Given the description of an element on the screen output the (x, y) to click on. 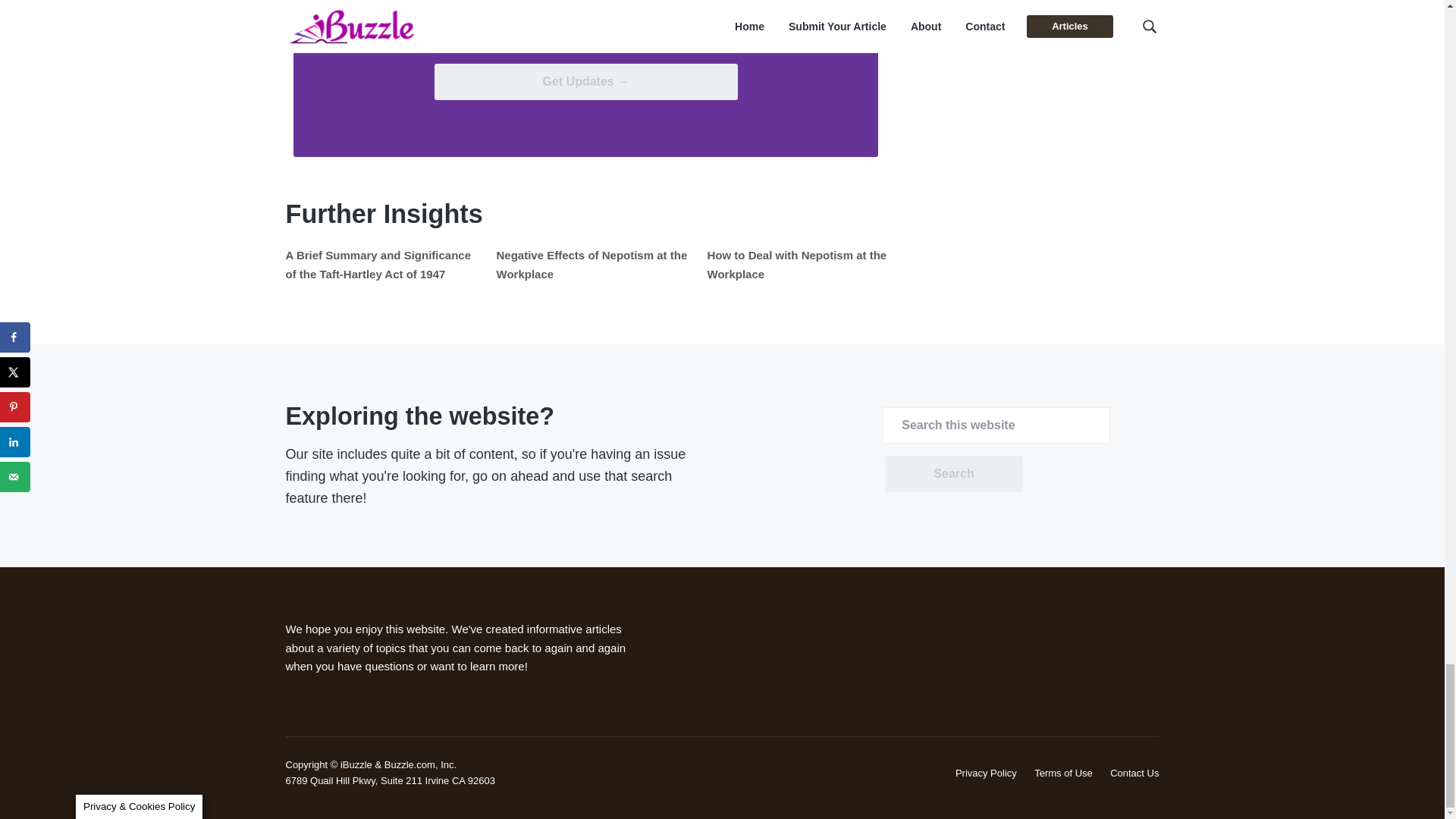
Permanent Link to How to Deal with Nepotism at the Workplace (796, 264)
Privacy Policy (985, 772)
Contact Us (1133, 772)
Negative Effects of Nepotism at the Workplace (591, 264)
Search (953, 473)
How to Deal with Nepotism at the Workplace (796, 264)
Search (953, 473)
Search (953, 473)
Terms of Use (1063, 772)
